Given the description of an element on the screen output the (x, y) to click on. 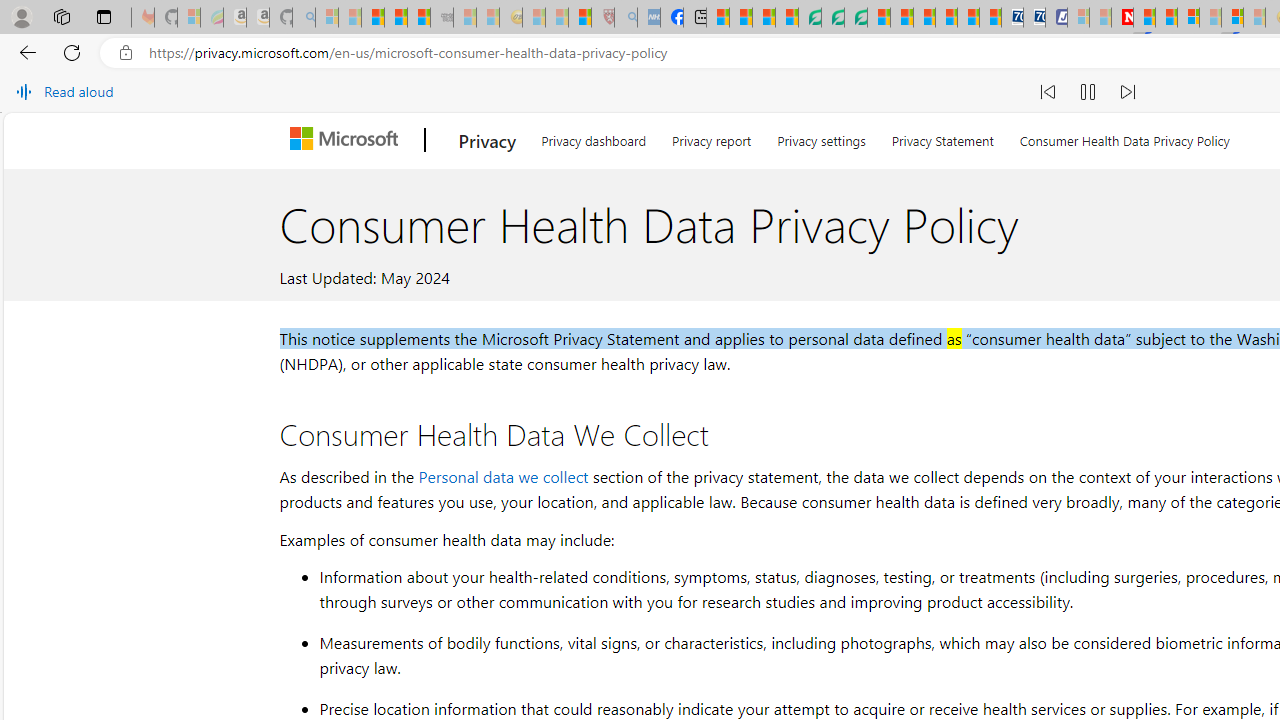
Personal data we collect (503, 475)
Combat Siege (442, 17)
Pause read aloud (Ctrl+Shift+U) (1087, 92)
Privacy Statement (942, 137)
Privacy settings (821, 137)
Privacy report (712, 137)
Cheap Hotels - Save70.com (1034, 17)
Microsoft Word - consumer-privacy address update 2.2021 (855, 17)
